Given the description of an element on the screen output the (x, y) to click on. 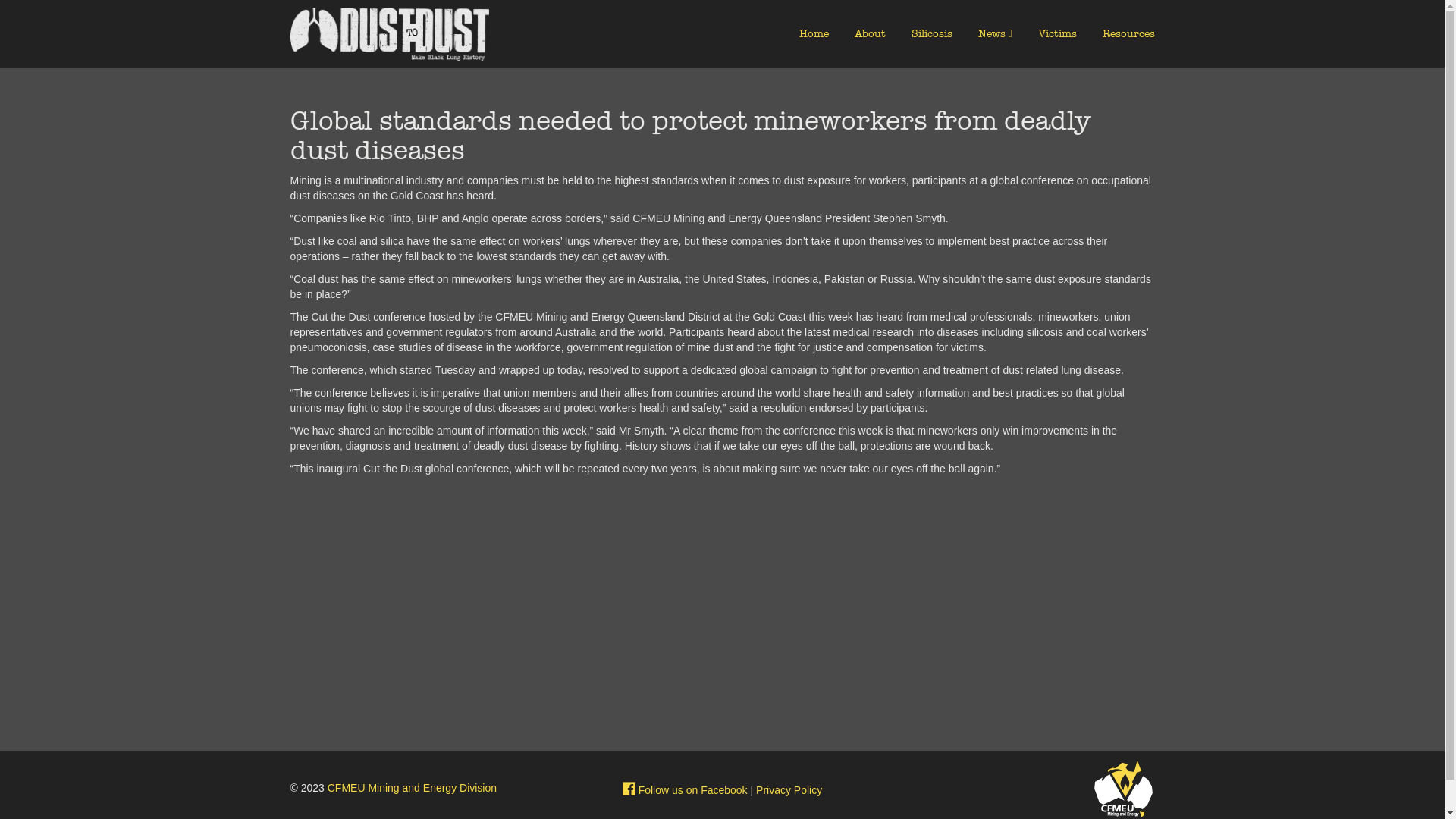
Victims Element type: text (1057, 33)
Home Element type: text (813, 33)
Follow us on Facebook Element type: text (684, 790)
Silicosis Element type: text (931, 33)
Resources Element type: text (1128, 33)
CFMEU Mining and Energy Division Element type: text (411, 787)
Privacy Policy Element type: text (789, 790)
News Element type: text (991, 33)
About Element type: text (869, 33)
